Given the description of an element on the screen output the (x, y) to click on. 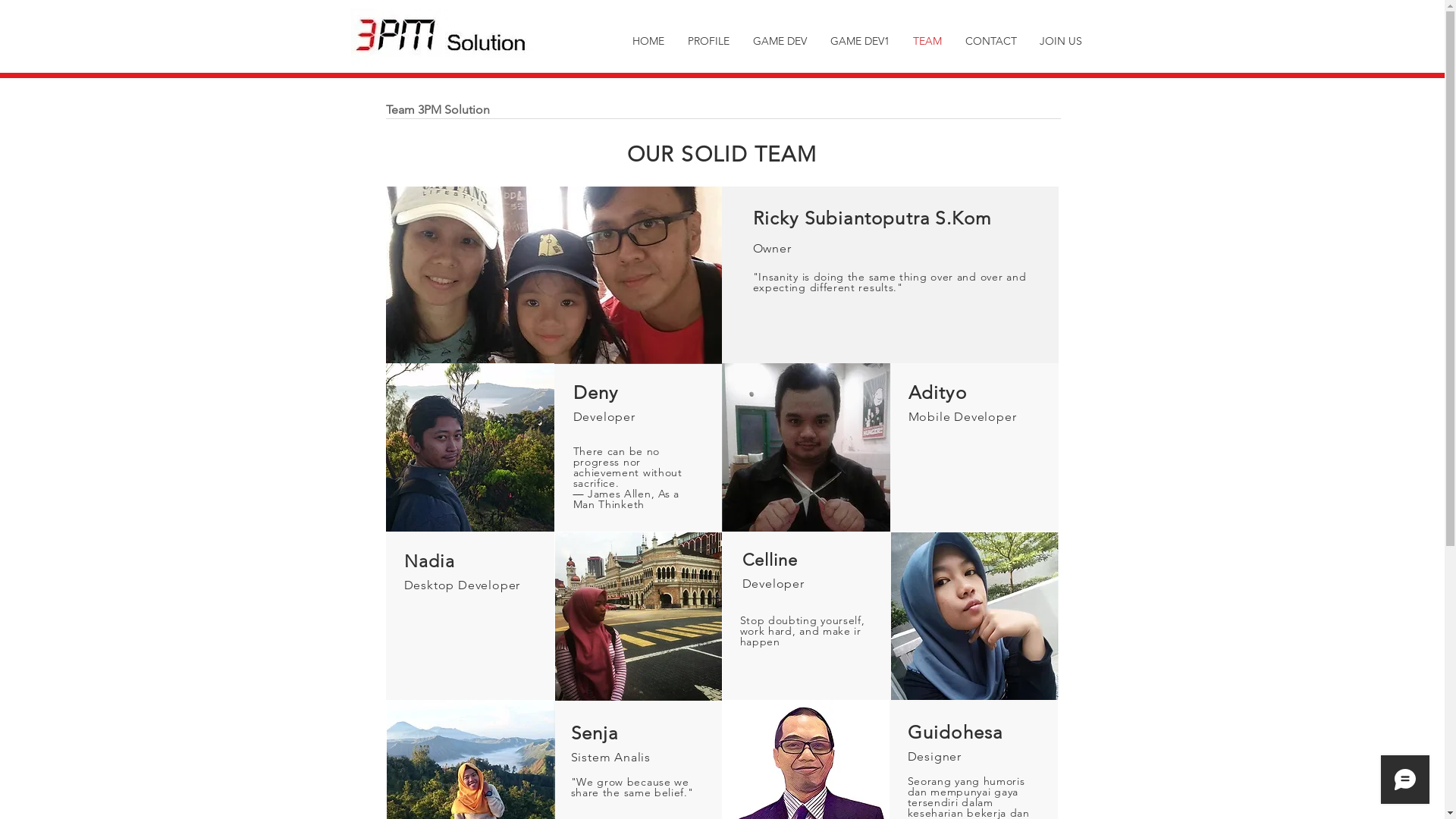
GAME DEV1 Element type: text (860, 40)
GAME DEV Element type: text (780, 40)
JOIN US Element type: text (1060, 40)
PROFILE Element type: text (708, 40)
TEAM Element type: text (926, 40)
CONTACT Element type: text (990, 40)
HOME Element type: text (647, 40)
